Given the description of an element on the screen output the (x, y) to click on. 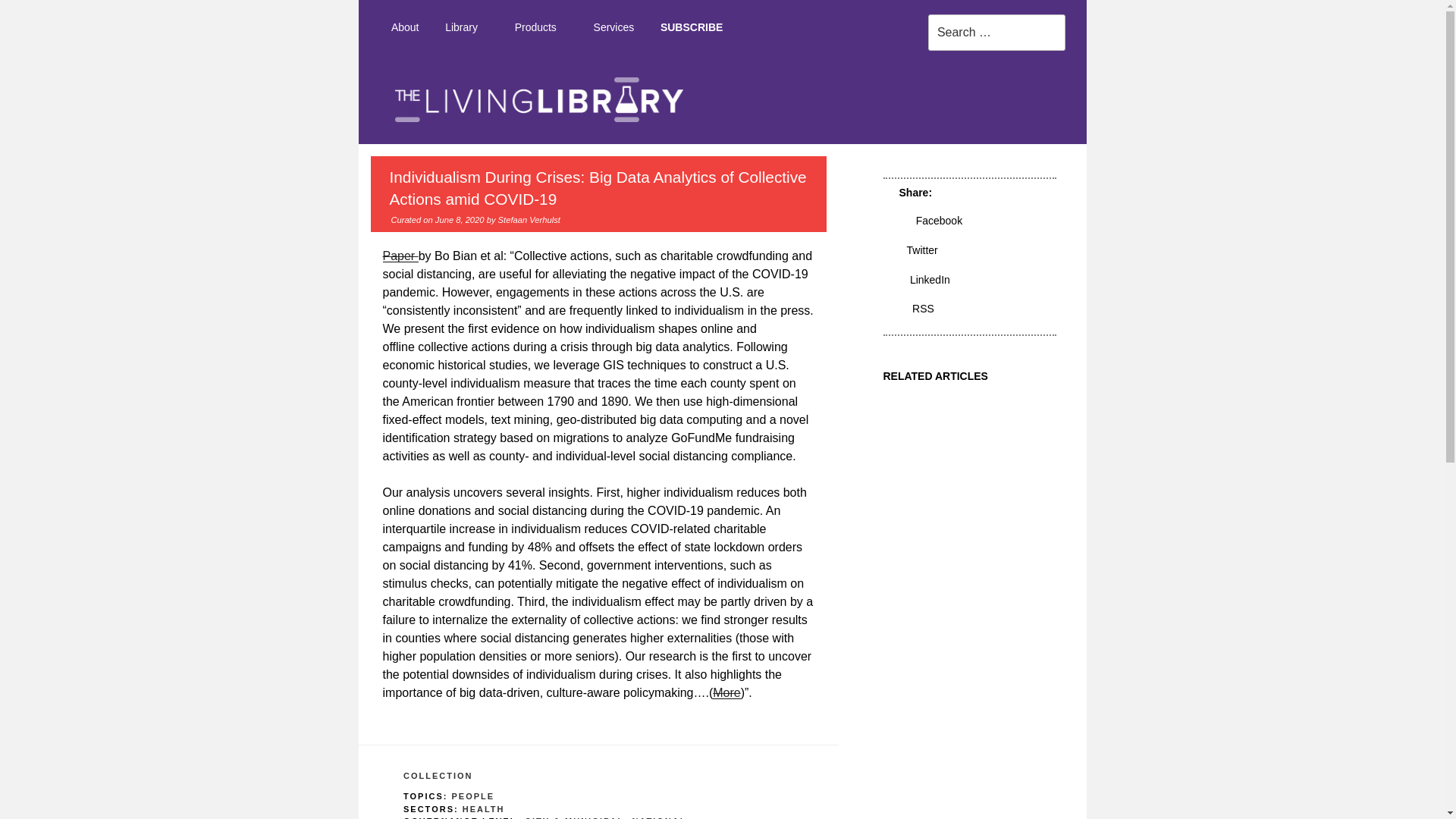
SUBSCRIBE (692, 27)
June 8, 2020 (459, 219)
Stefaan Verhulst (528, 219)
More (726, 692)
THE LIVING LIBRARY (1117, 158)
Library (466, 27)
HEALTH (484, 809)
NATIONAL (658, 817)
LinkedIn (924, 279)
RSS (916, 308)
PEOPLE (473, 795)
About (403, 27)
  Facebook (930, 220)
COLLECTION (438, 775)
Twitter (918, 250)
